Given the description of an element on the screen output the (x, y) to click on. 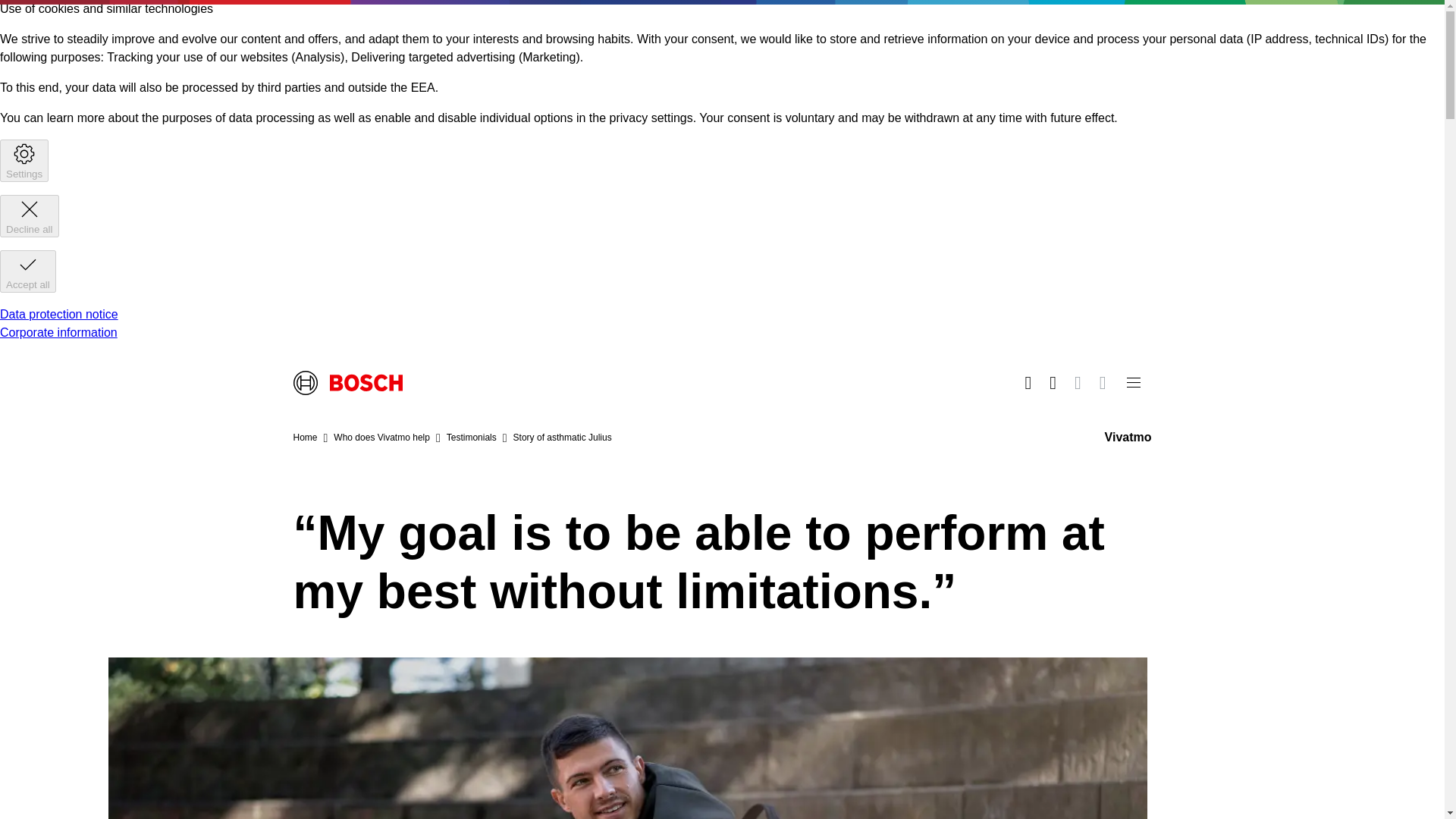
Menu (1133, 382)
